Given the description of an element on the screen output the (x, y) to click on. 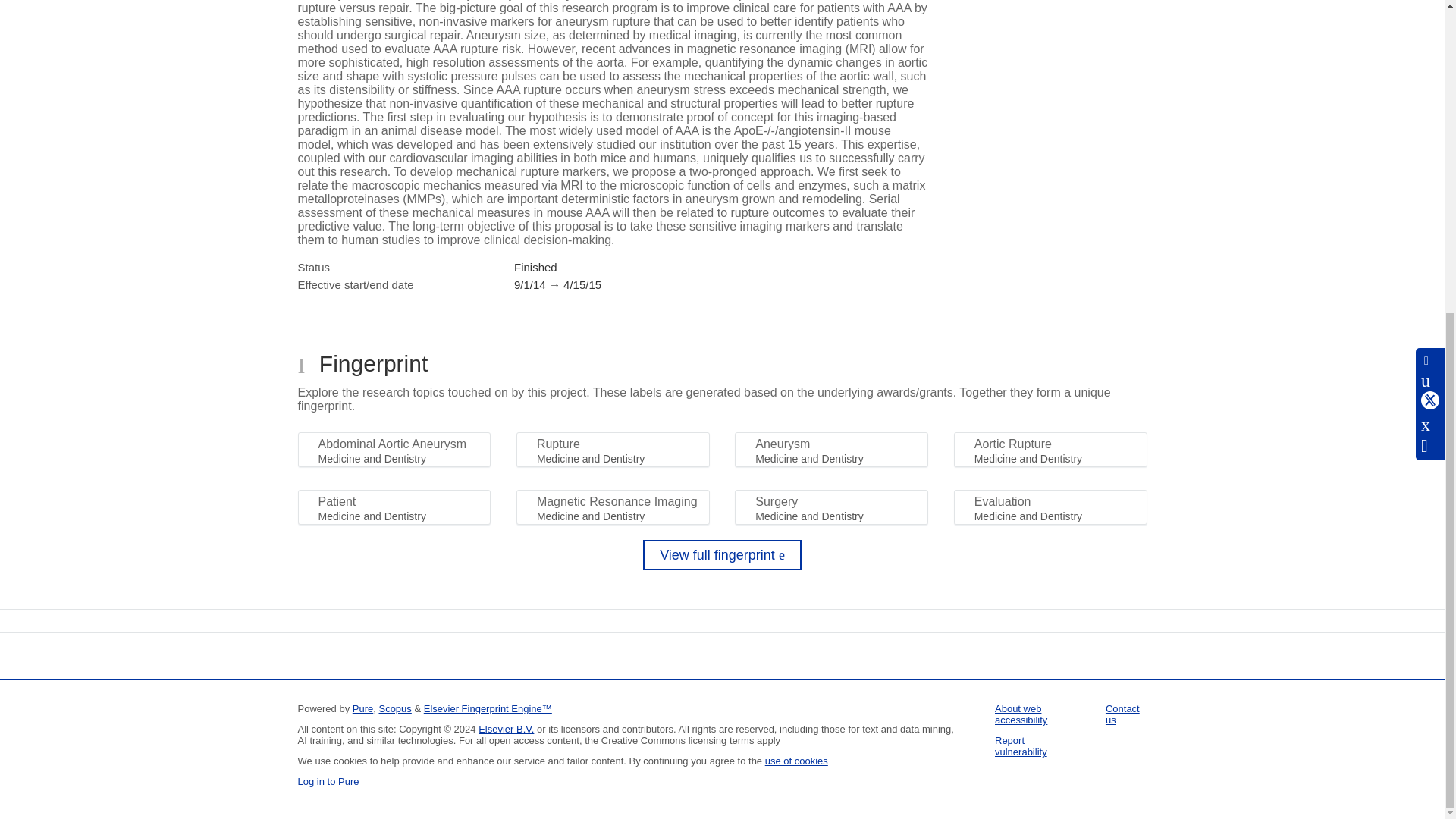
Pure (362, 708)
About web accessibility (1020, 713)
Elsevier B.V. (506, 728)
View full fingerprint (722, 554)
Scopus (394, 708)
Log in to Pure (327, 781)
use of cookies (796, 760)
